Given the description of an element on the screen output the (x, y) to click on. 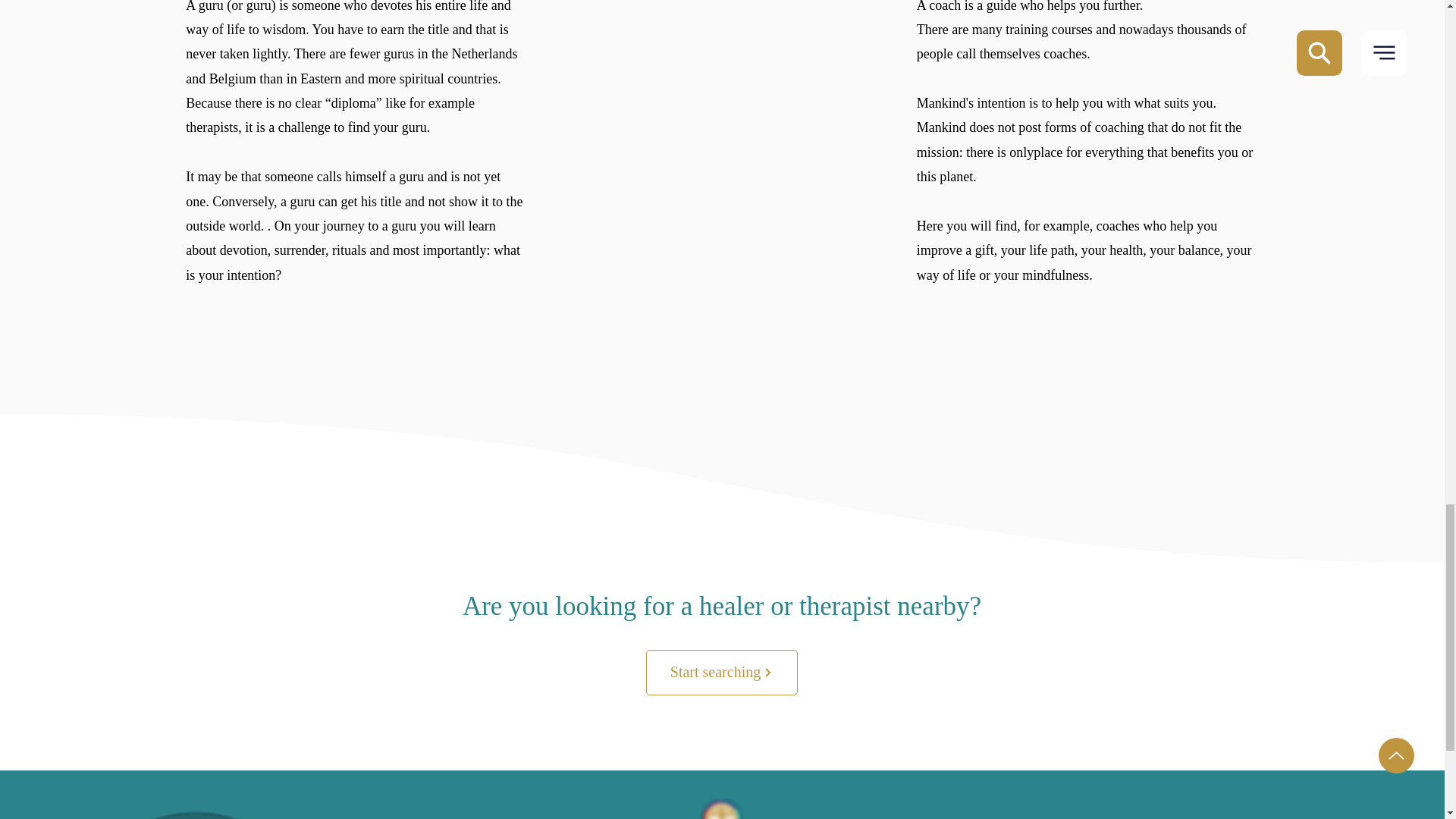
place (1047, 151)
Start searching (721, 672)
